Given the description of an element on the screen output the (x, y) to click on. 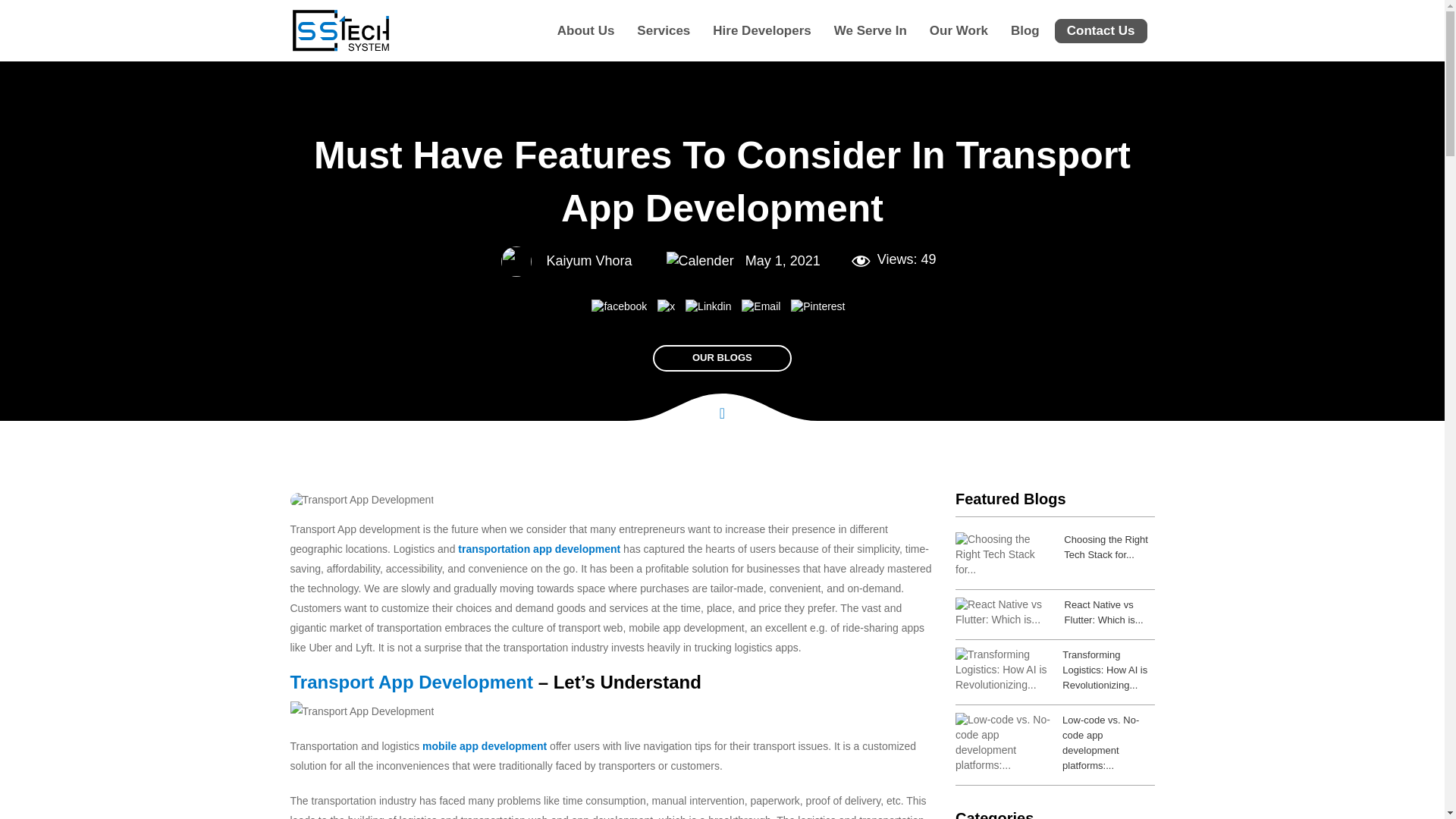
About Us (586, 30)
Services (662, 30)
